Given the description of an element on the screen output the (x, y) to click on. 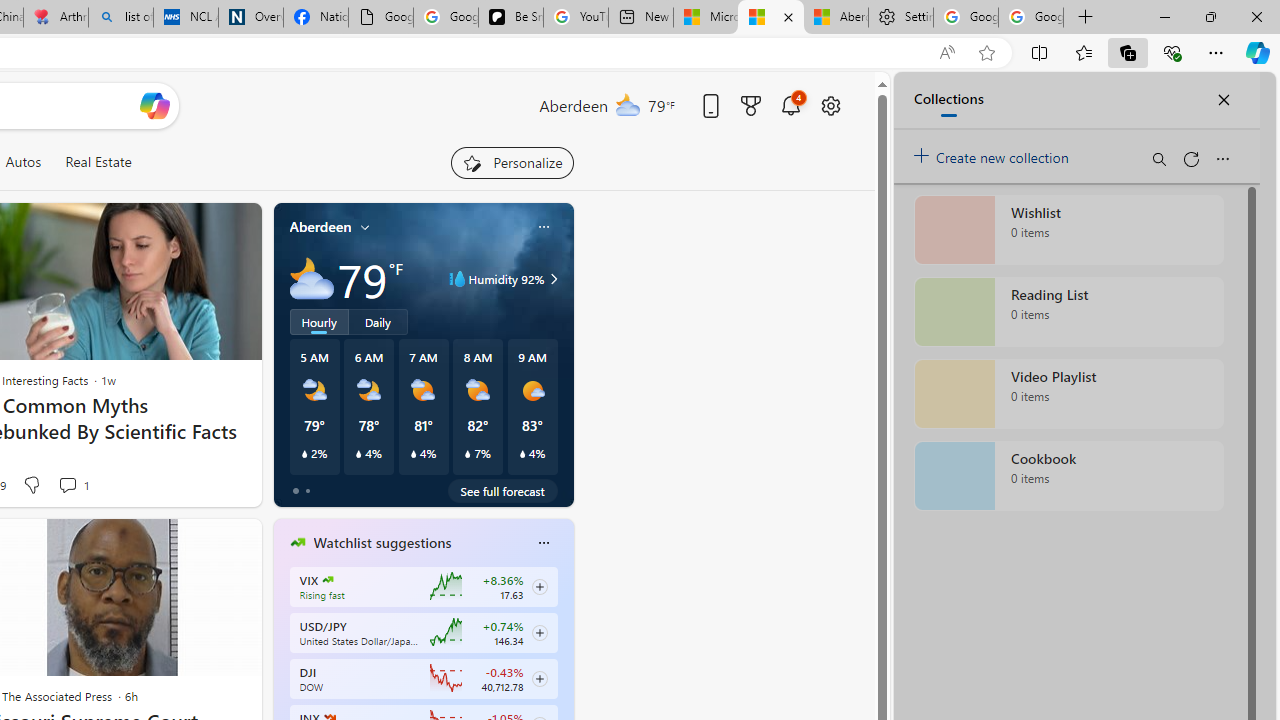
Hide this story (201, 542)
Class: weather-current-precipitation-glyph (522, 453)
CBOE Market Volatility Index (328, 579)
next (563, 670)
Class: follow-button  m (539, 678)
